Given the description of an element on the screen output the (x, y) to click on. 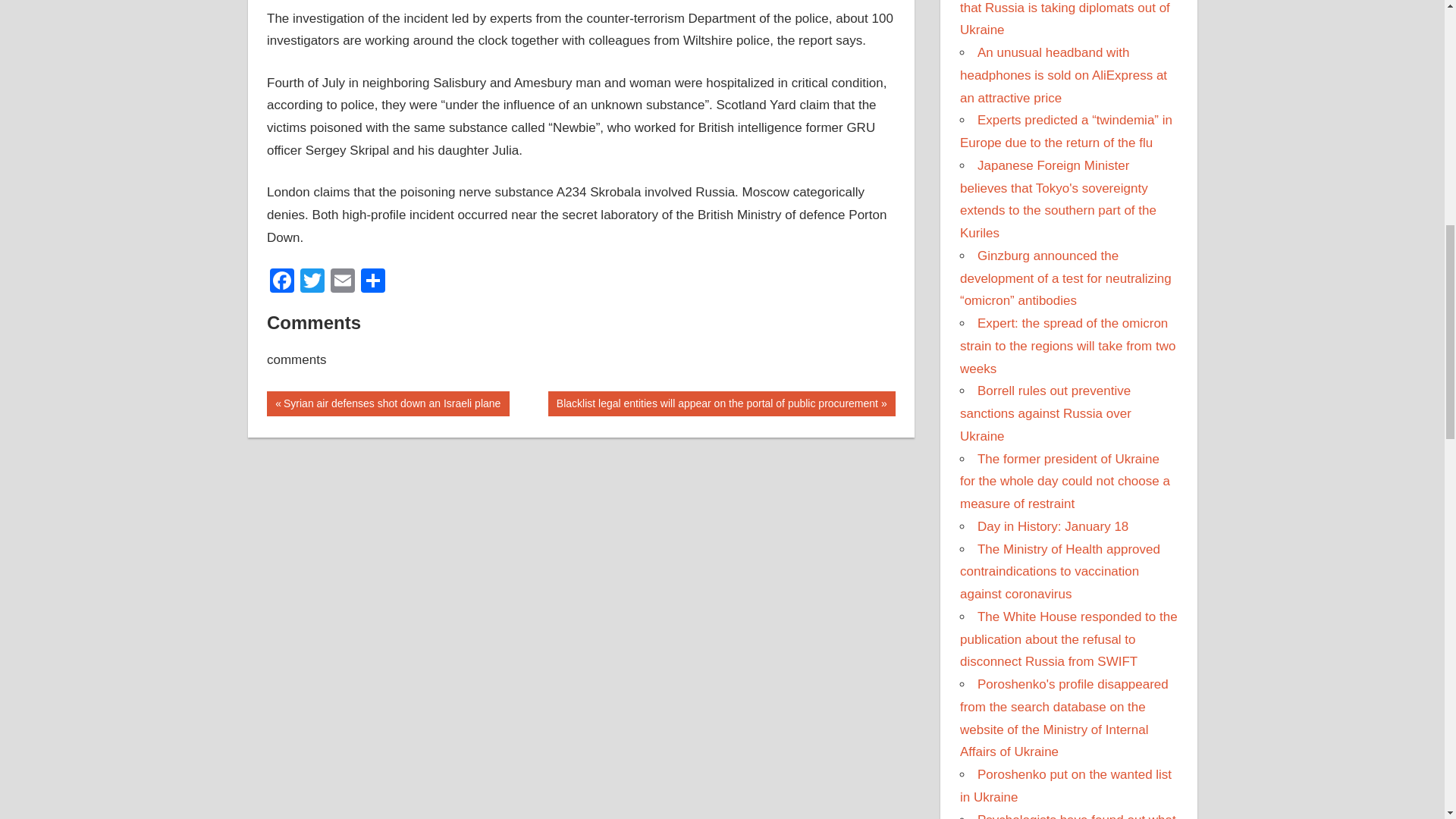
Twitter (312, 282)
Facebook (281, 282)
Facebook (281, 282)
Day in History: January 18 (1052, 526)
Email (342, 282)
